Given the description of an element on the screen output the (x, y) to click on. 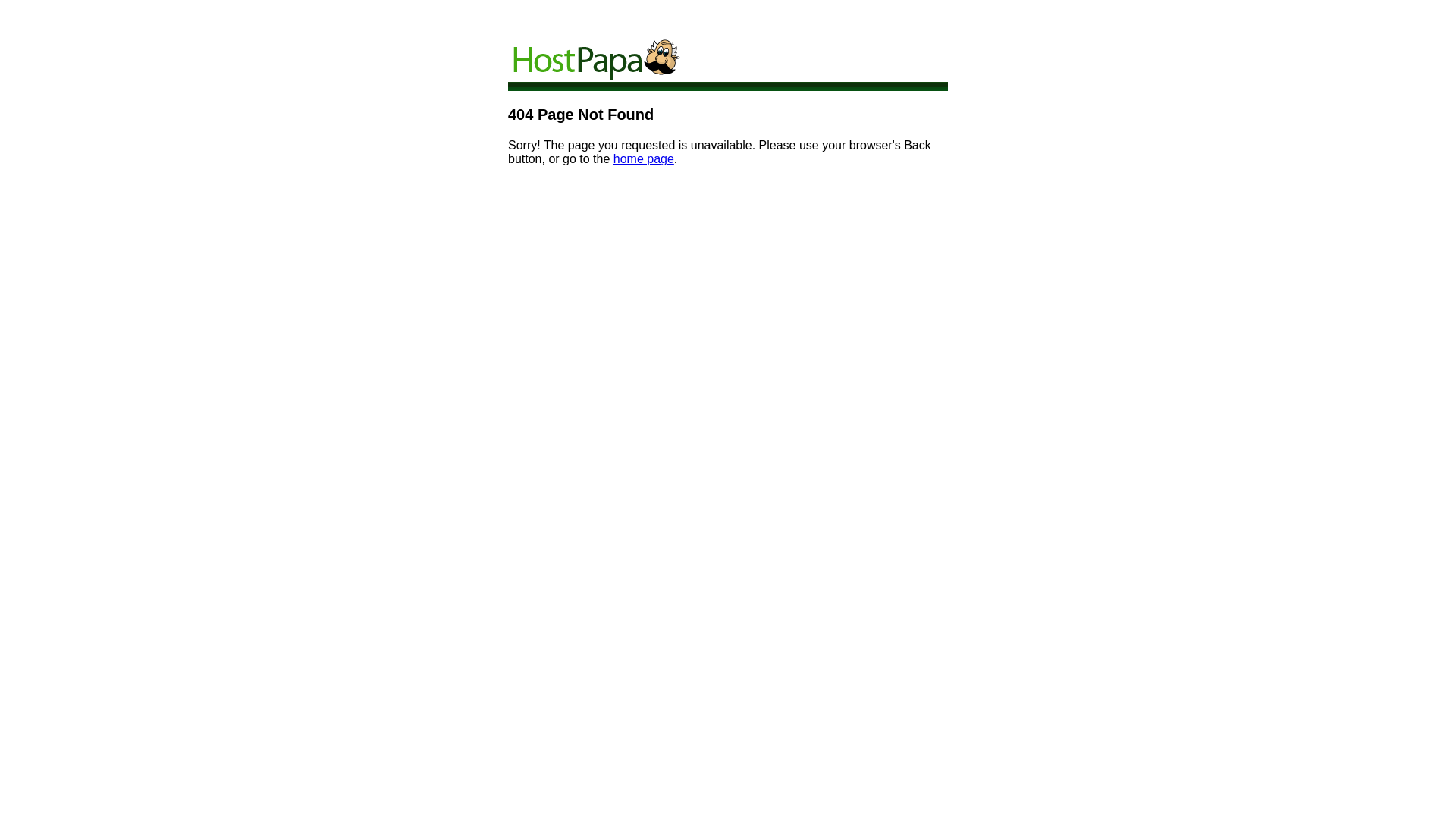
home page Element type: text (643, 158)
